Given the description of an element on the screen output the (x, y) to click on. 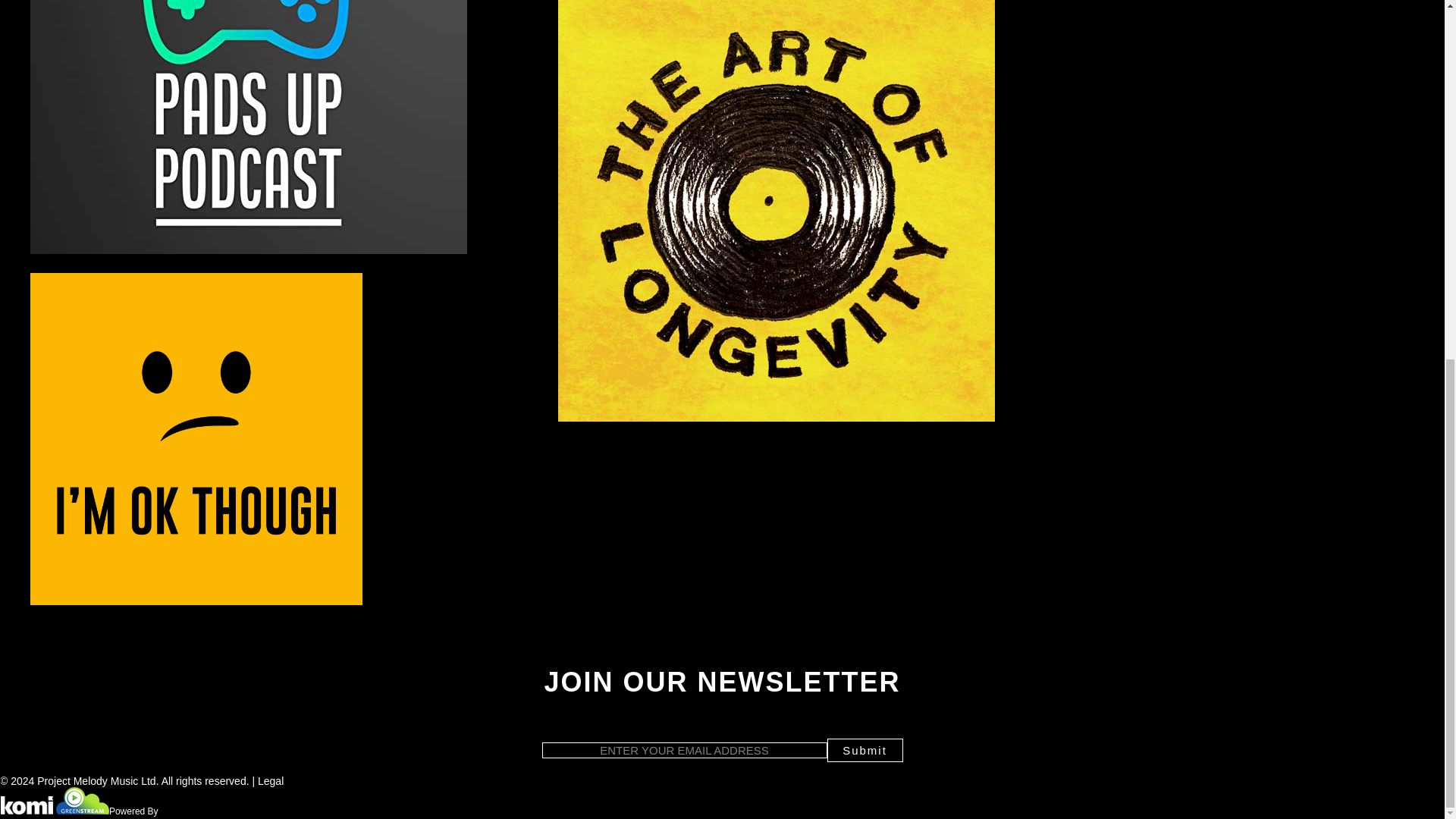
Powered By (107, 810)
Submit (864, 750)
Legal (270, 780)
